Given the description of an element on the screen output the (x, y) to click on. 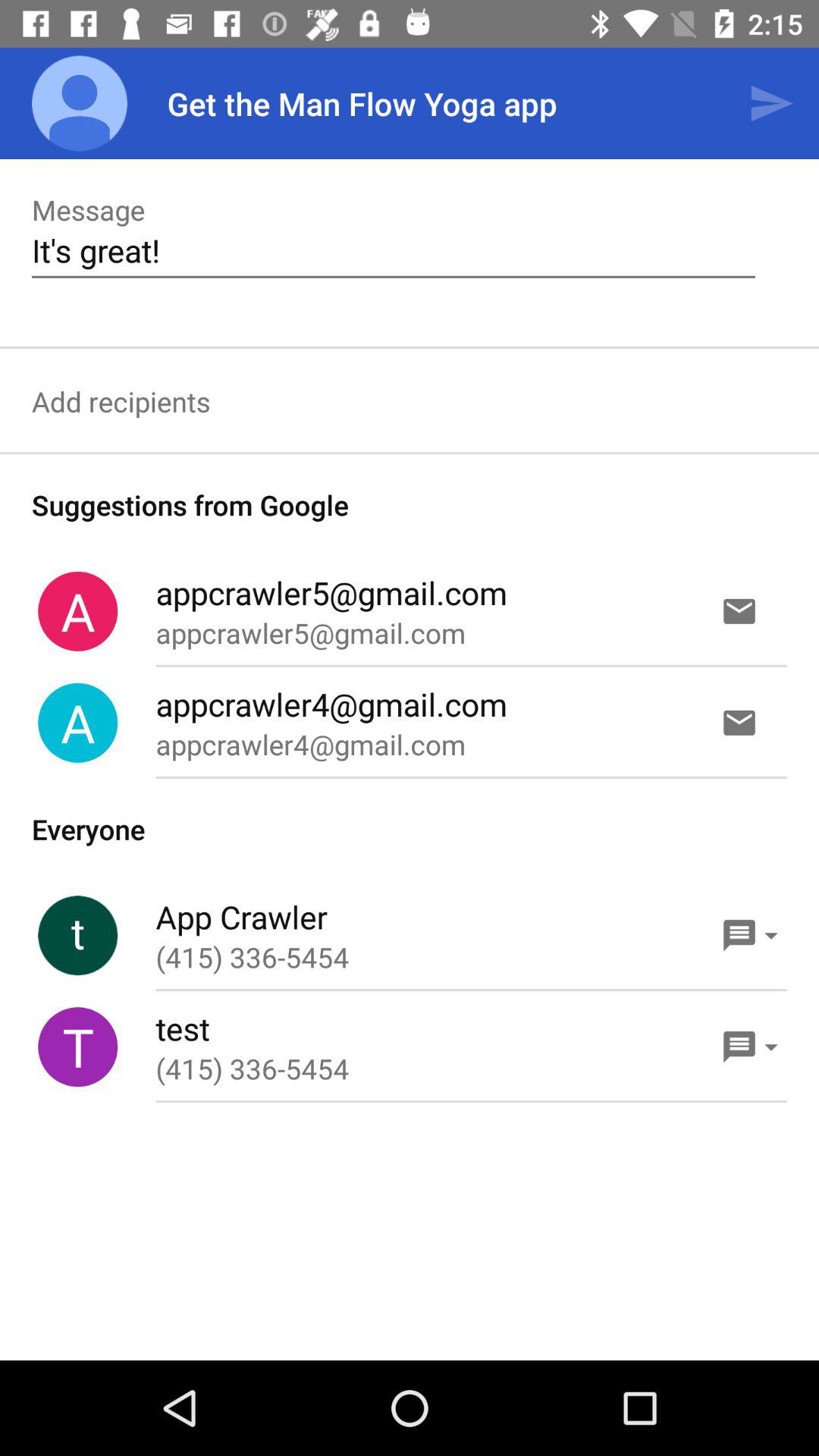
click the item at the top right corner (771, 103)
